Given the description of an element on the screen output the (x, y) to click on. 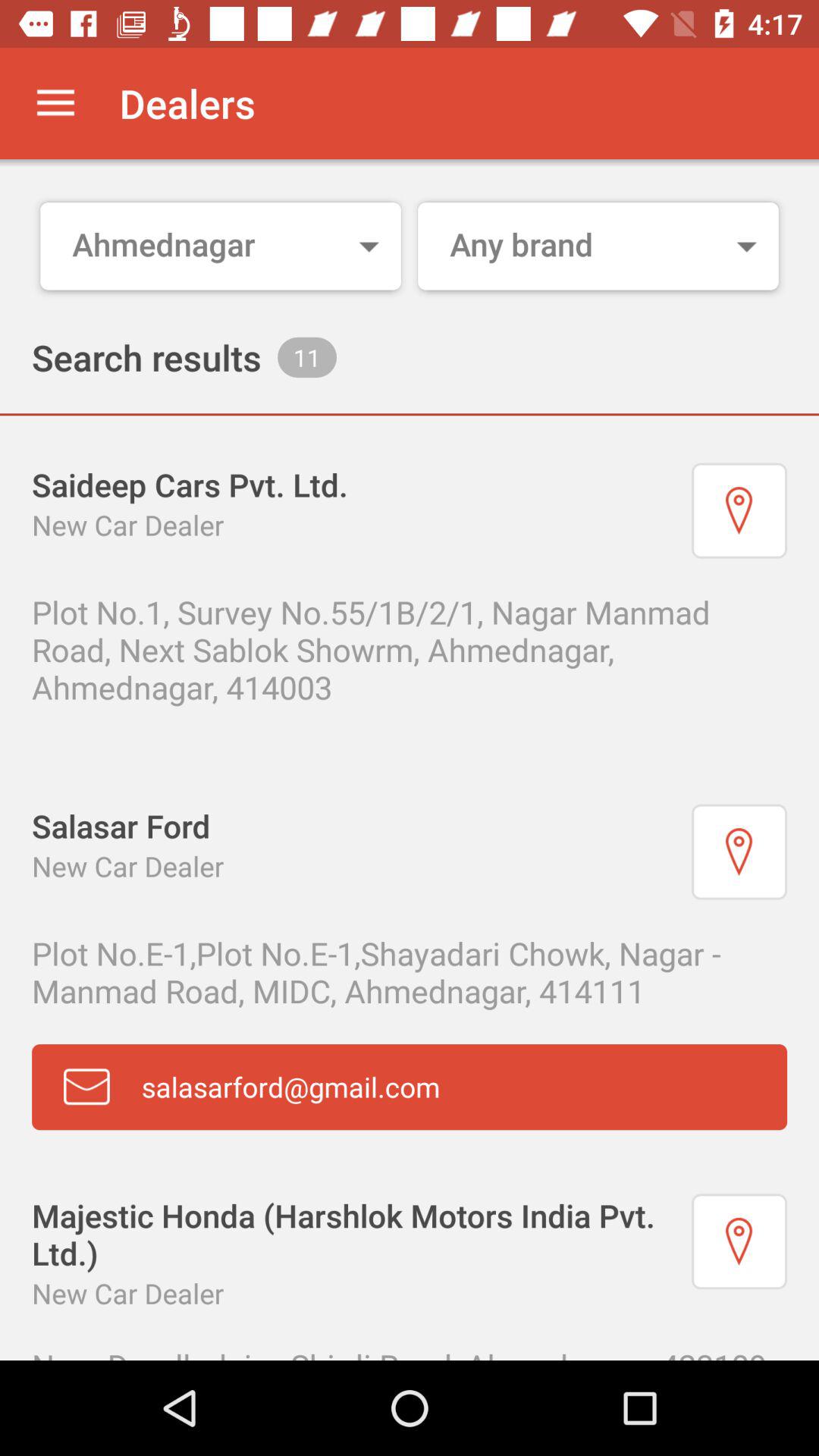
click for location (739, 1241)
